Given the description of an element on the screen output the (x, y) to click on. 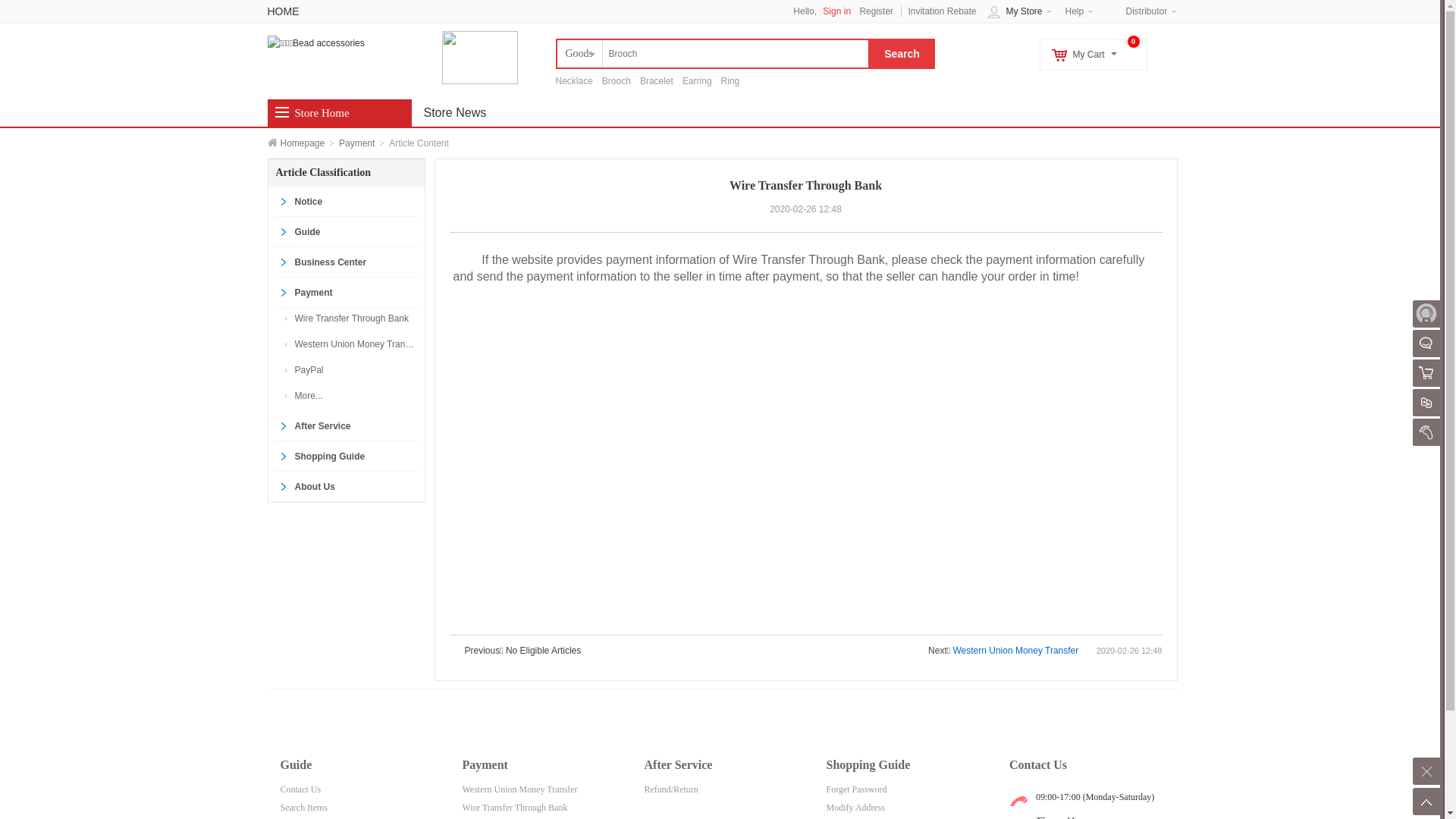
Homepage Element type: text (302, 142)
Modify Address Element type: text (855, 807)
Bracelet Element type: text (656, 80)
About Us Element type: text (346, 486)
Search Element type: text (900, 53)
Cart Element type: text (1426, 372)
Earring Element type: text (697, 80)
After Service Element type: text (346, 426)
Register Element type: text (876, 11)
Invitation Rebate Element type: text (941, 11)
Forget Password Element type: text (856, 789)
HOME Element type: text (282, 11)
Western Union Money Transfer Element type: text (519, 789)
Compare Element type: text (1426, 402)
Brooch Element type: text (616, 80)
Wire Transfer Through Bank Element type: text (514, 807)
Refund/Return Element type: text (671, 789)
Business Center Element type: text (346, 262)
Contact Us Element type: text (300, 789)
Payment Element type: text (346, 292)
Notice Element type: text (346, 201)
More... Element type: text (354, 395)
Western Union Money Transfer Element type: text (1015, 650)
Shopping Guide Element type: text (346, 456)
PayPal Element type: text (354, 370)
My Store Element type: text (1023, 11)
Western Union Money Transfer Element type: text (354, 344)
Sign in Element type: text (839, 11)
Ring Element type: text (730, 80)
Search Items Element type: text (303, 807)
Necklace Element type: text (573, 80)
Store Home Element type: text (321, 112)
Viewed Element type: text (1426, 431)
Store News Element type: text (454, 112)
Wire Transfer Through Bank Element type: text (354, 318)
Payment Element type: text (356, 142)
Guide Element type: text (346, 231)
18SO Element type: hover (315, 42)
QQ Service Element type: text (1426, 343)
Distributor Element type: text (1146, 11)
